Given the description of an element on the screen output the (x, y) to click on. 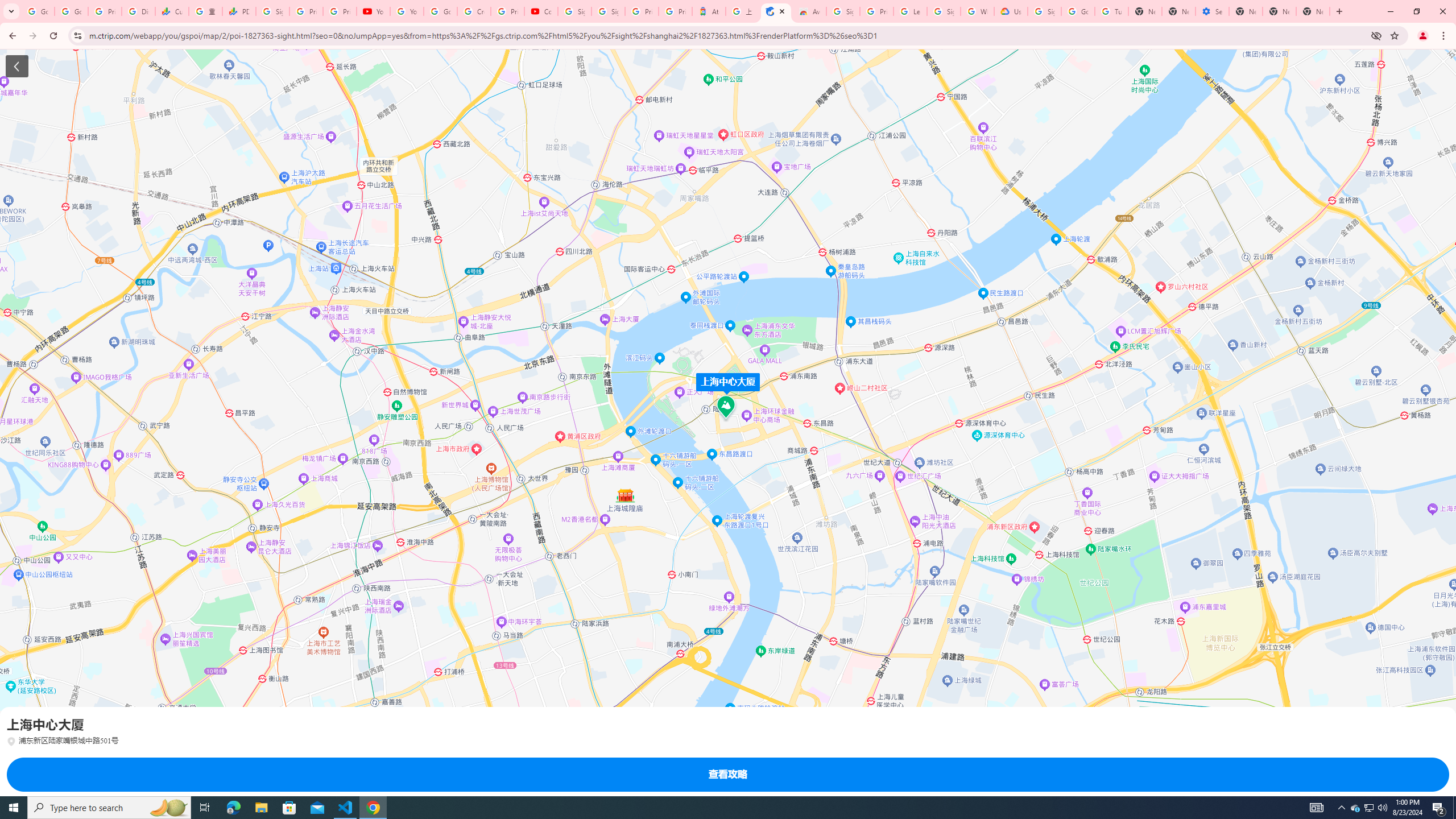
Google Account Help (1077, 11)
Sign in - Google Accounts (943, 11)
Turn cookies on or off - Computer - Google Account Help (1111, 11)
Sign in - Google Accounts (842, 11)
Who are Google's partners? - Privacy and conditions - Google (976, 11)
Currencies - Google Finance (171, 11)
Create your Google Account (474, 11)
